Given the description of an element on the screen output the (x, y) to click on. 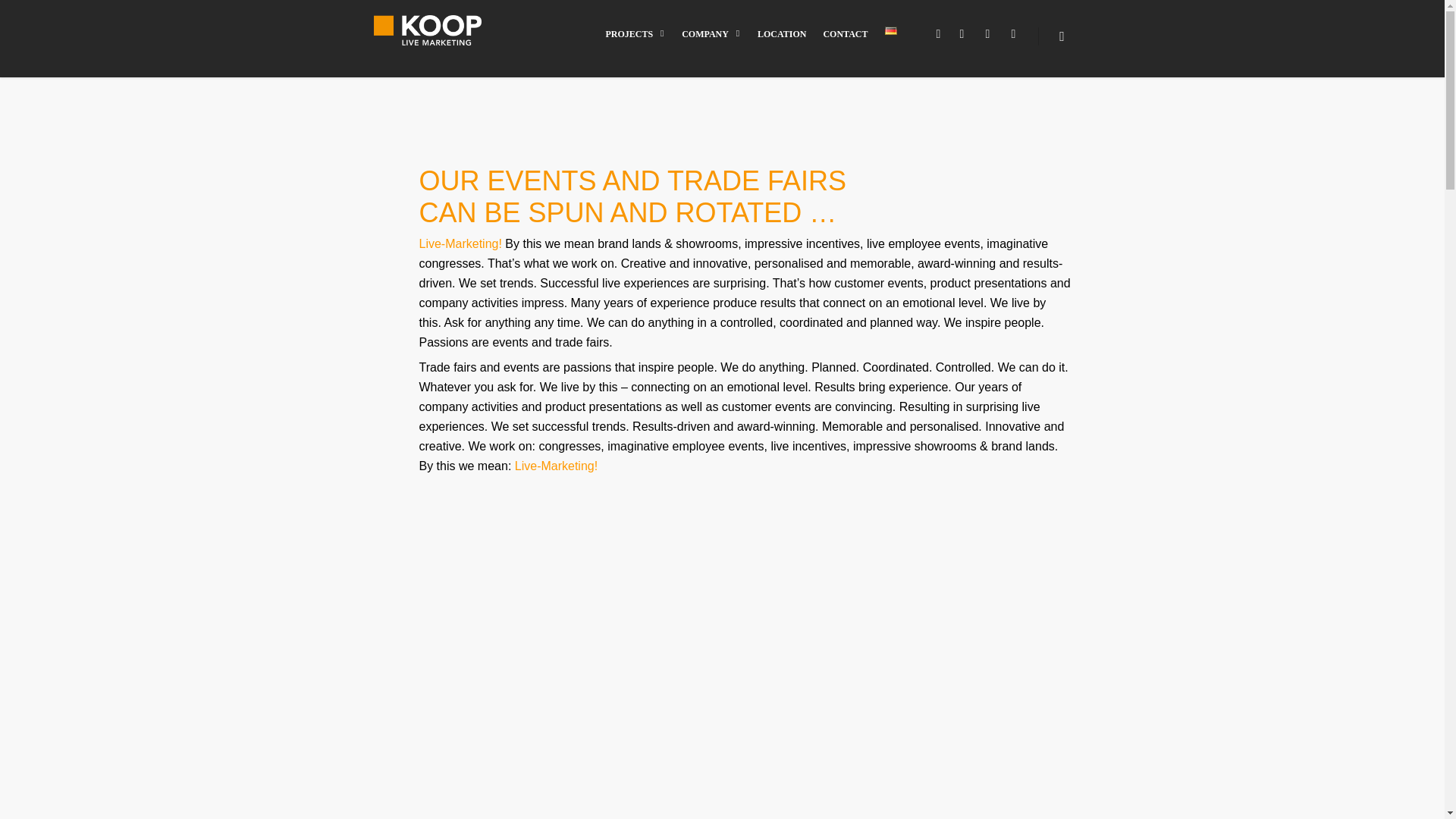
PROJECTS (634, 44)
COMPANY (711, 44)
LOCATION (781, 44)
CONTACT (845, 44)
